Given the description of an element on the screen output the (x, y) to click on. 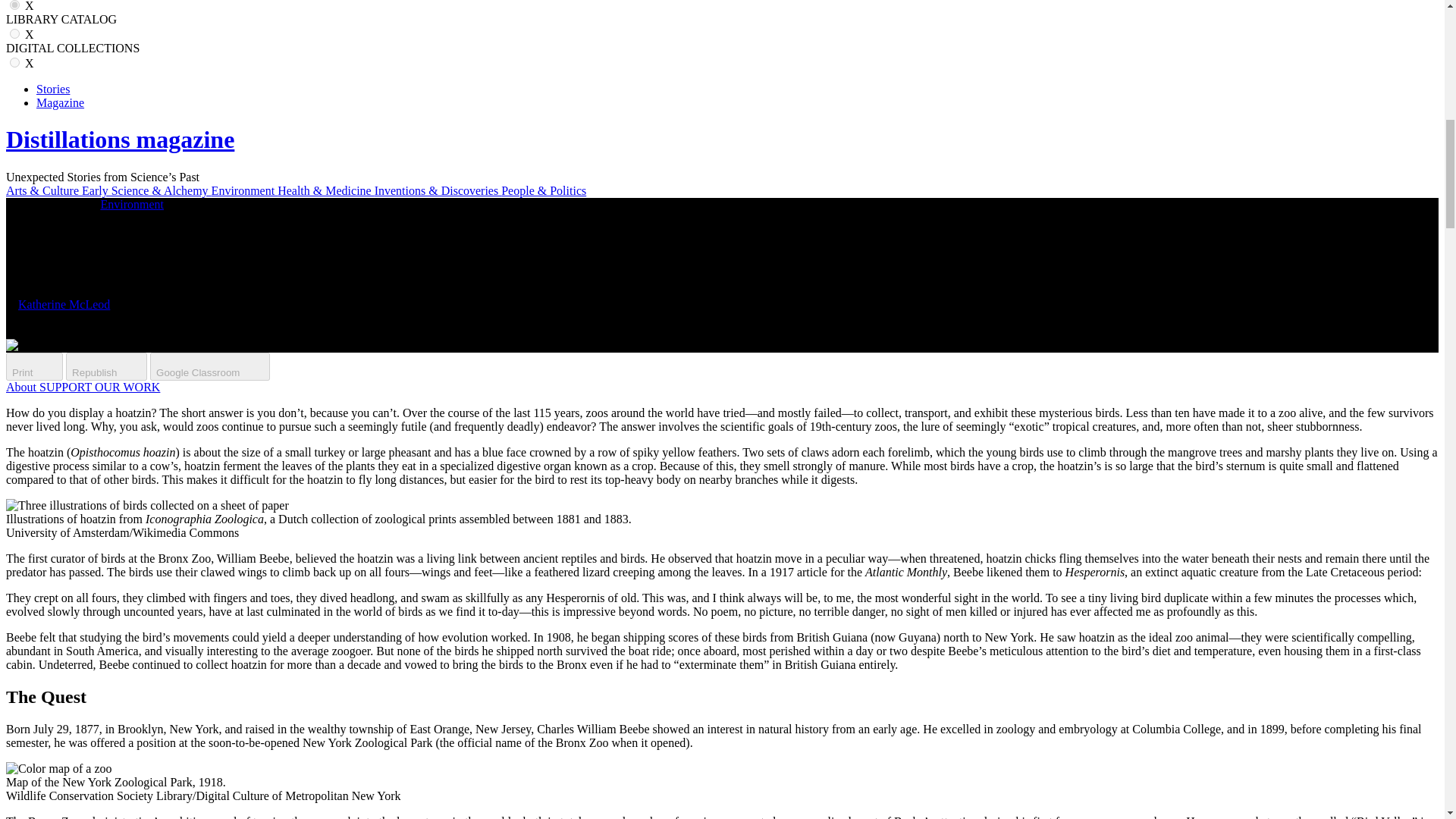
othmerlib (15, 33)
digital (15, 62)
digital (15, 62)
othmerlib (15, 33)
